Given the description of an element on the screen output the (x, y) to click on. 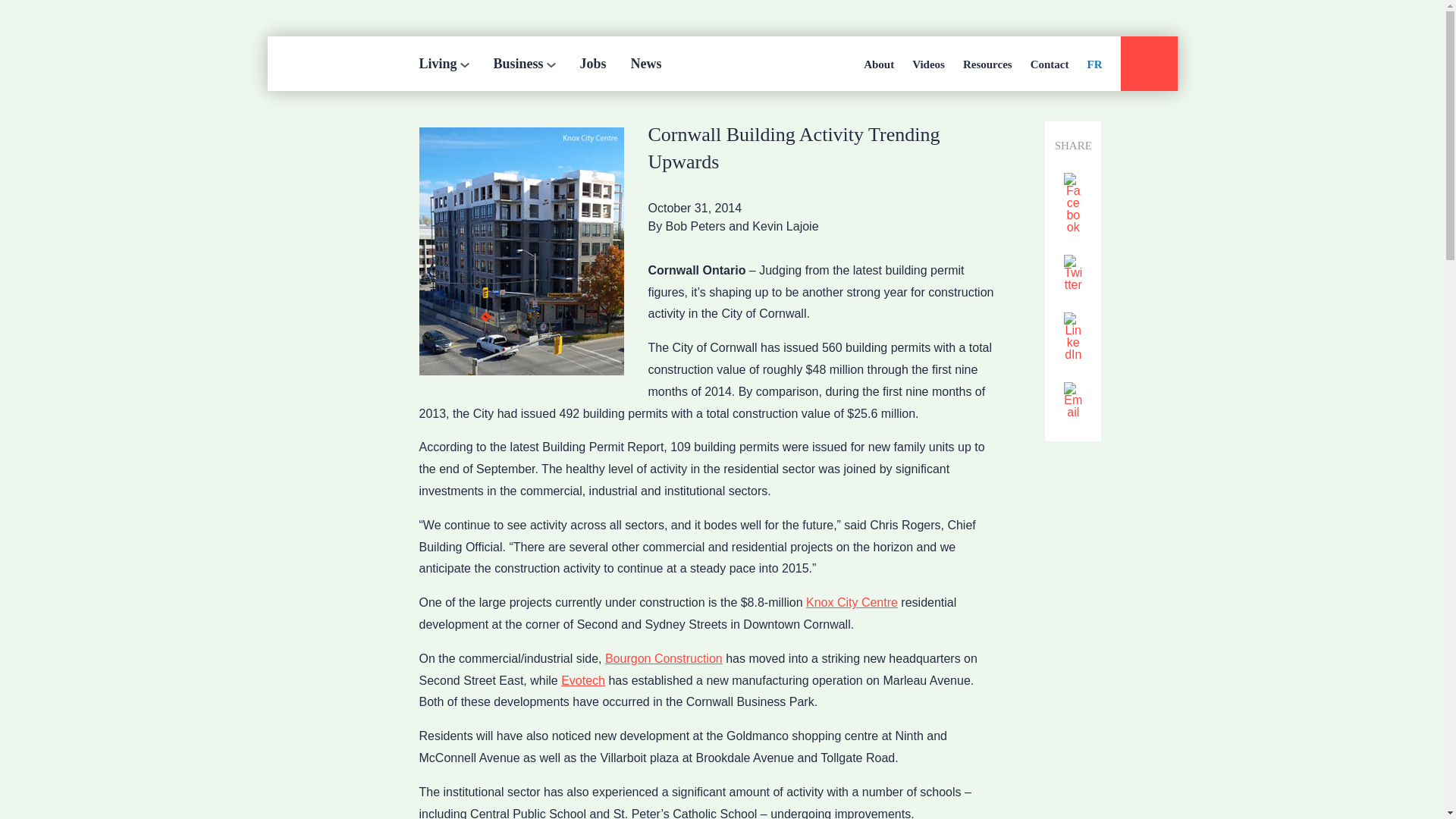
Email (1072, 401)
Facebook (1072, 203)
Living (443, 63)
Twitter (1072, 273)
LinkedIn (1072, 337)
